Given the description of an element on the screen output the (x, y) to click on. 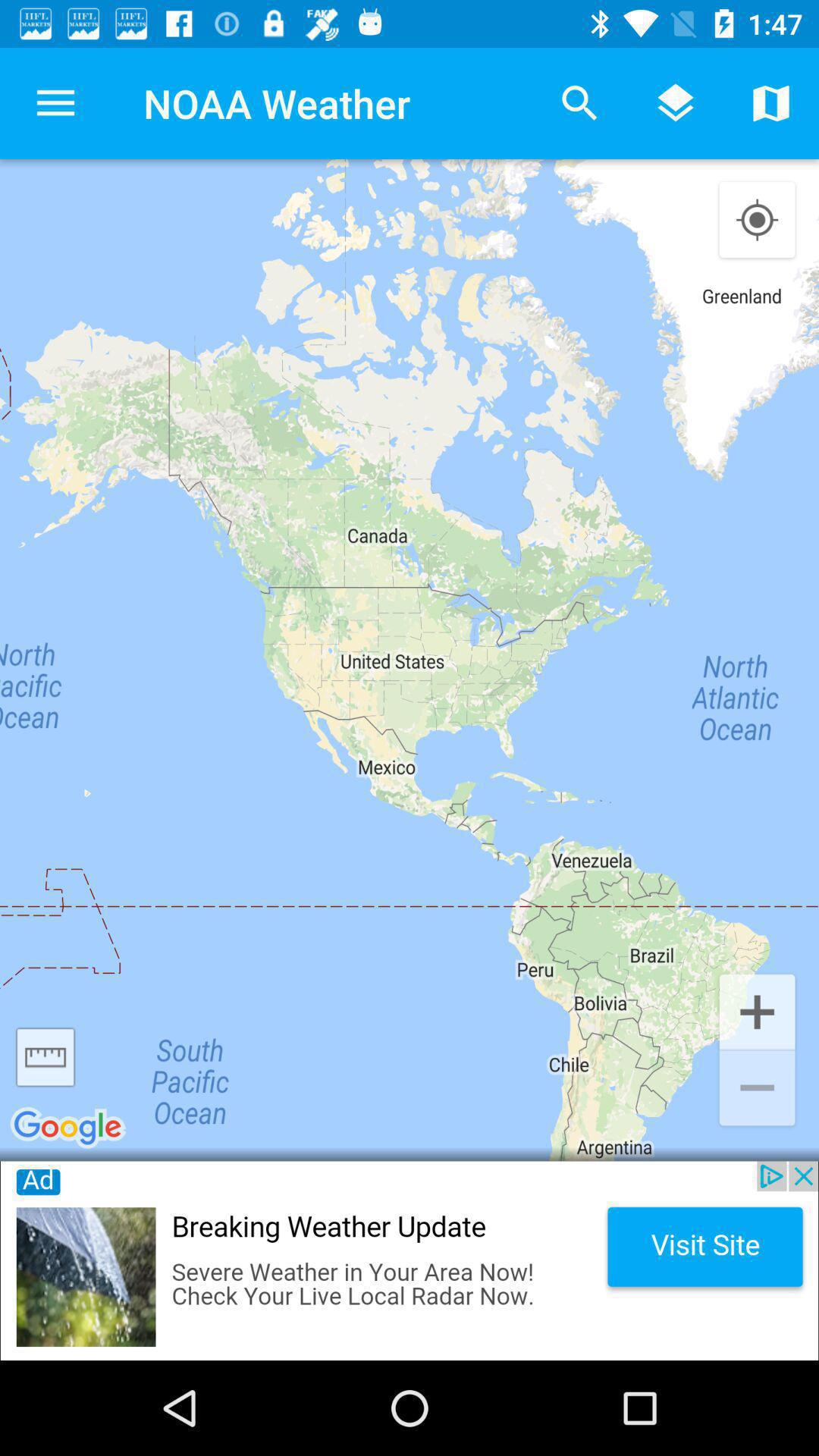
advertisement (409, 1260)
